Given the description of an element on the screen output the (x, y) to click on. 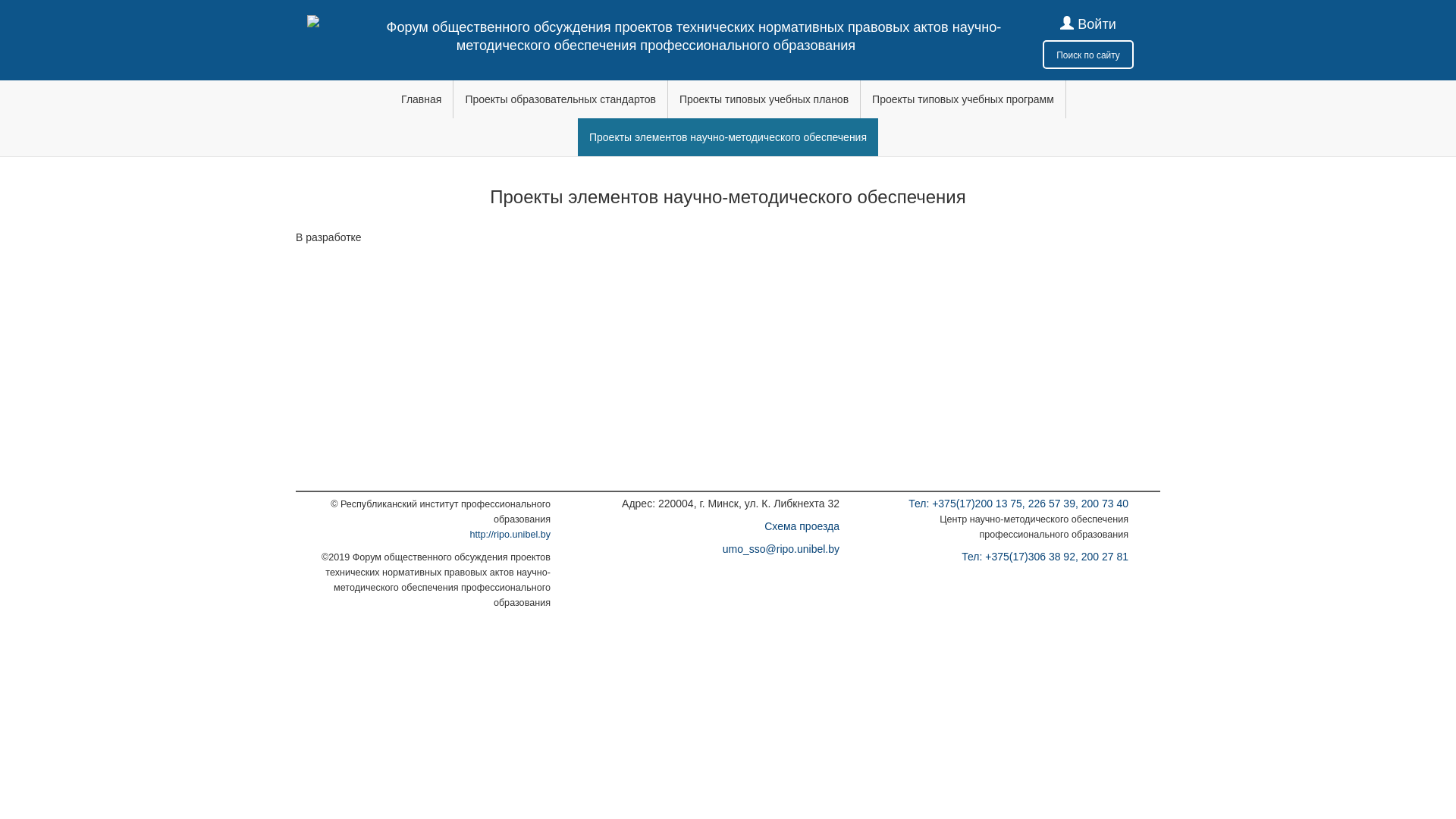
umo_sso@ripo.unibel.by Element type: text (780, 548)
http://ripo.unibel.by Element type: text (510, 534)
